Given the description of an element on the screen output the (x, y) to click on. 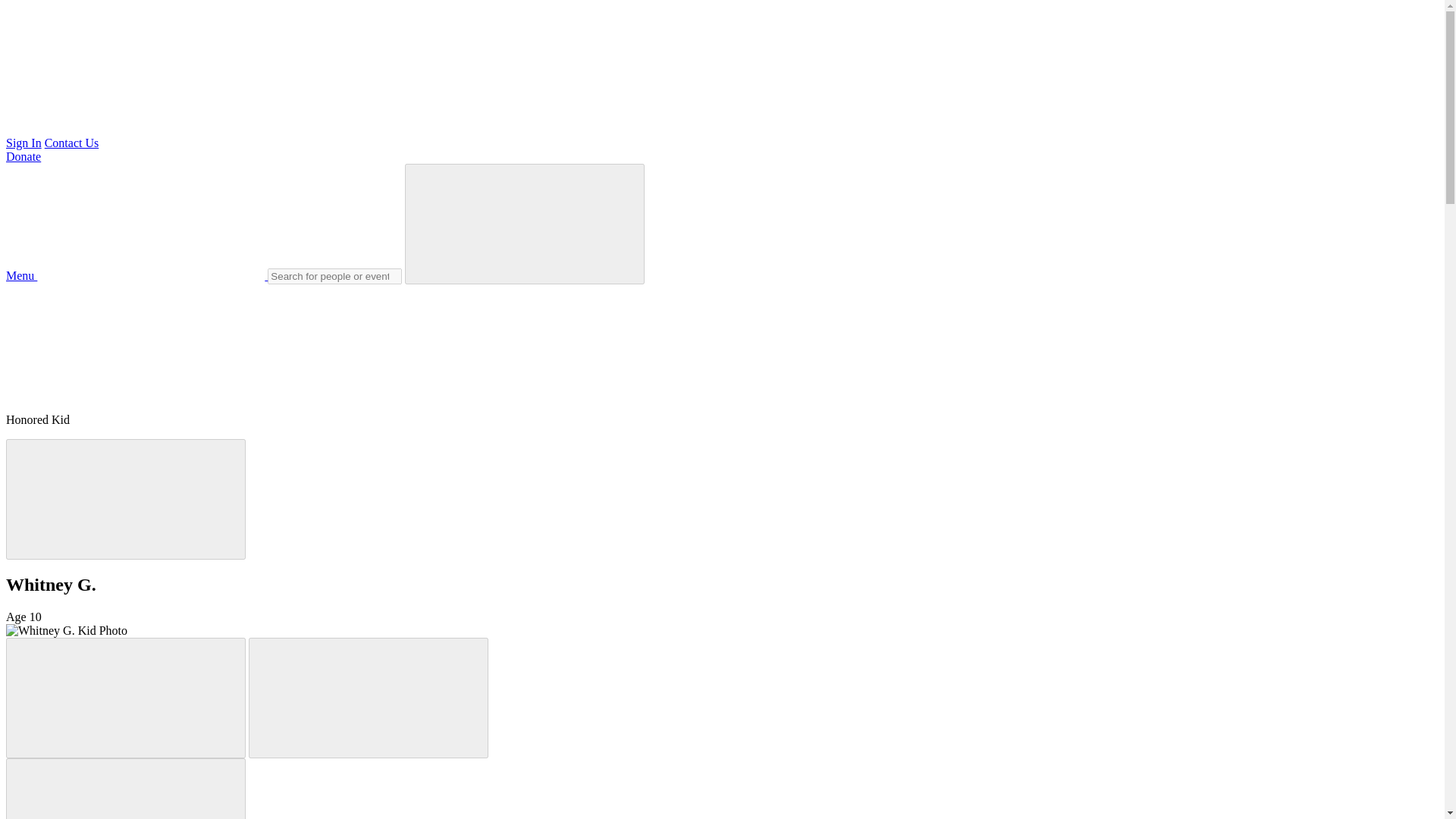
Donate (22, 155)
Menu (136, 275)
info heart gift pin clock View on Map View Facebook Page (118, 341)
Sign In (23, 142)
Contact Us (72, 142)
